Given the description of an element on the screen output the (x, y) to click on. 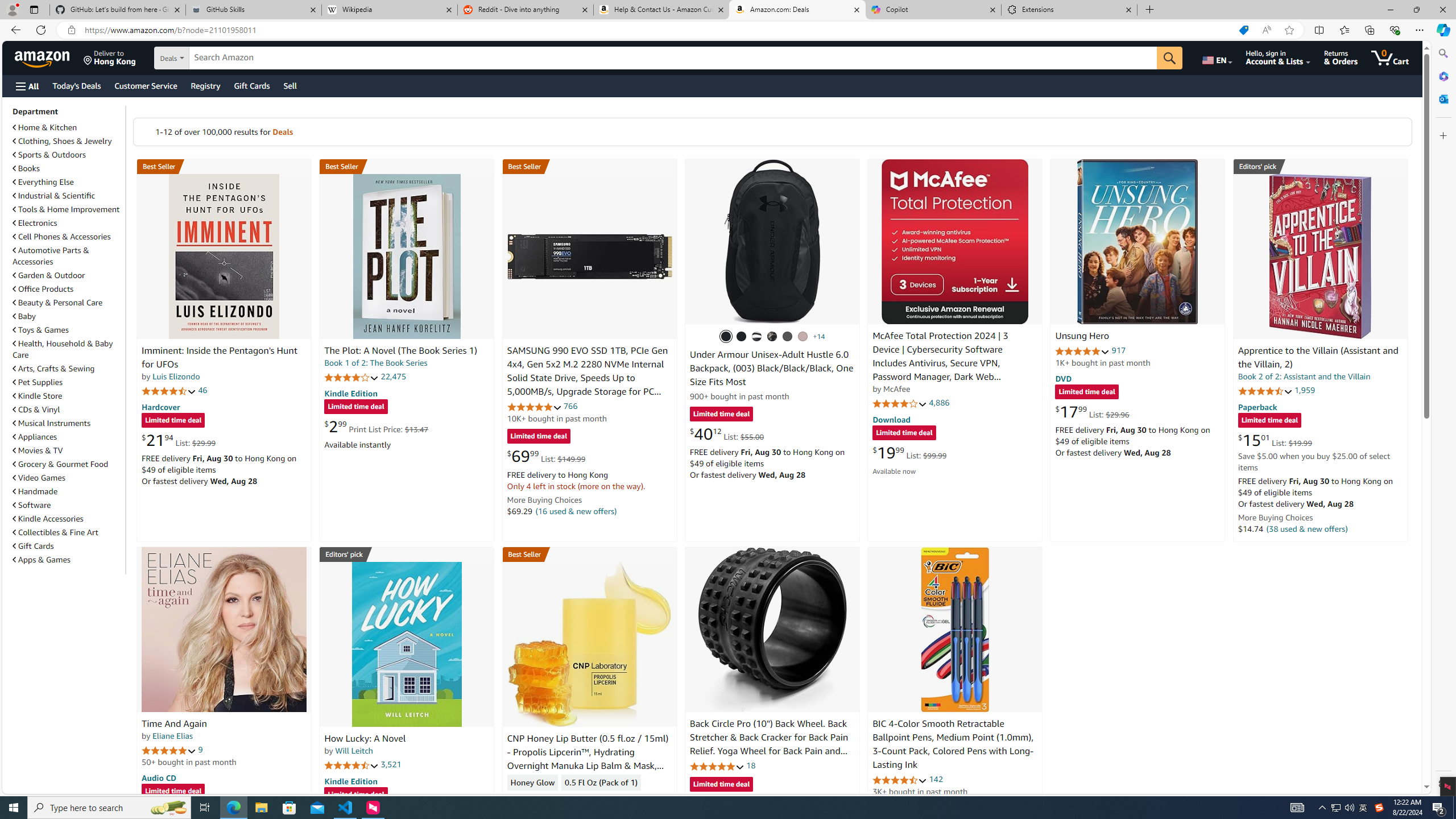
9 (200, 749)
Close (1442, 9)
Add this page to favorites (Ctrl+D) (1289, 29)
Tools & Home Improvement (67, 208)
Today's Deals (76, 85)
Beauty & Personal Care (58, 302)
Audio CD (158, 777)
Copilot (933, 9)
Hardcover (160, 406)
$17.99 List: $29.96 (1092, 411)
Time And Again (173, 723)
Open Menu (26, 86)
(001) Black / Black / Metallic Gold (741, 336)
Clothing, Shoes & Jewelry (62, 140)
Sports & Outdoors (49, 154)
